Given the description of an element on the screen output the (x, y) to click on. 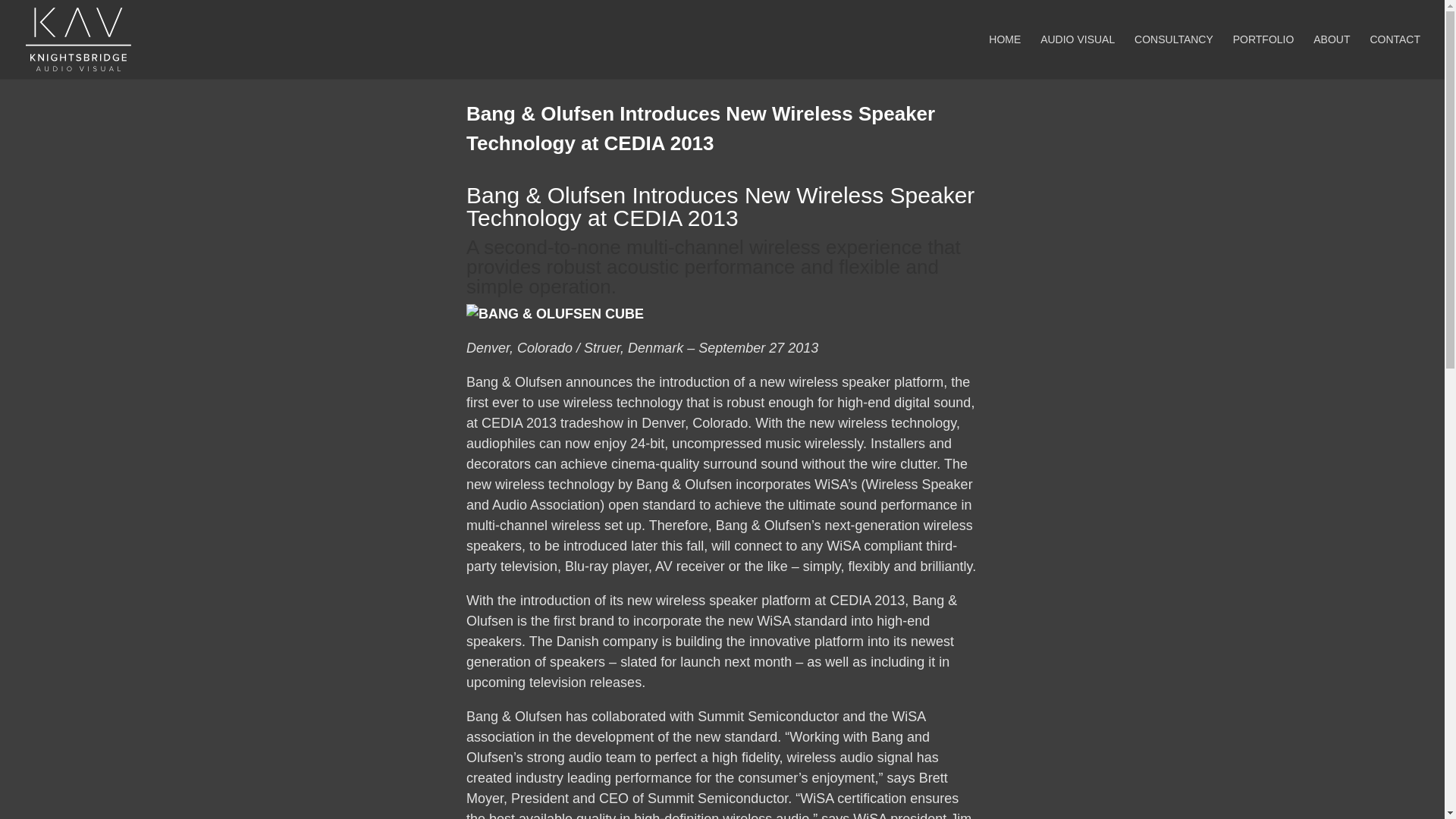
PORTFOLIO (1263, 56)
CONSULTANCY (1173, 56)
AUDIO VISUAL (1078, 56)
CONTACT (1395, 56)
